Given the description of an element on the screen output the (x, y) to click on. 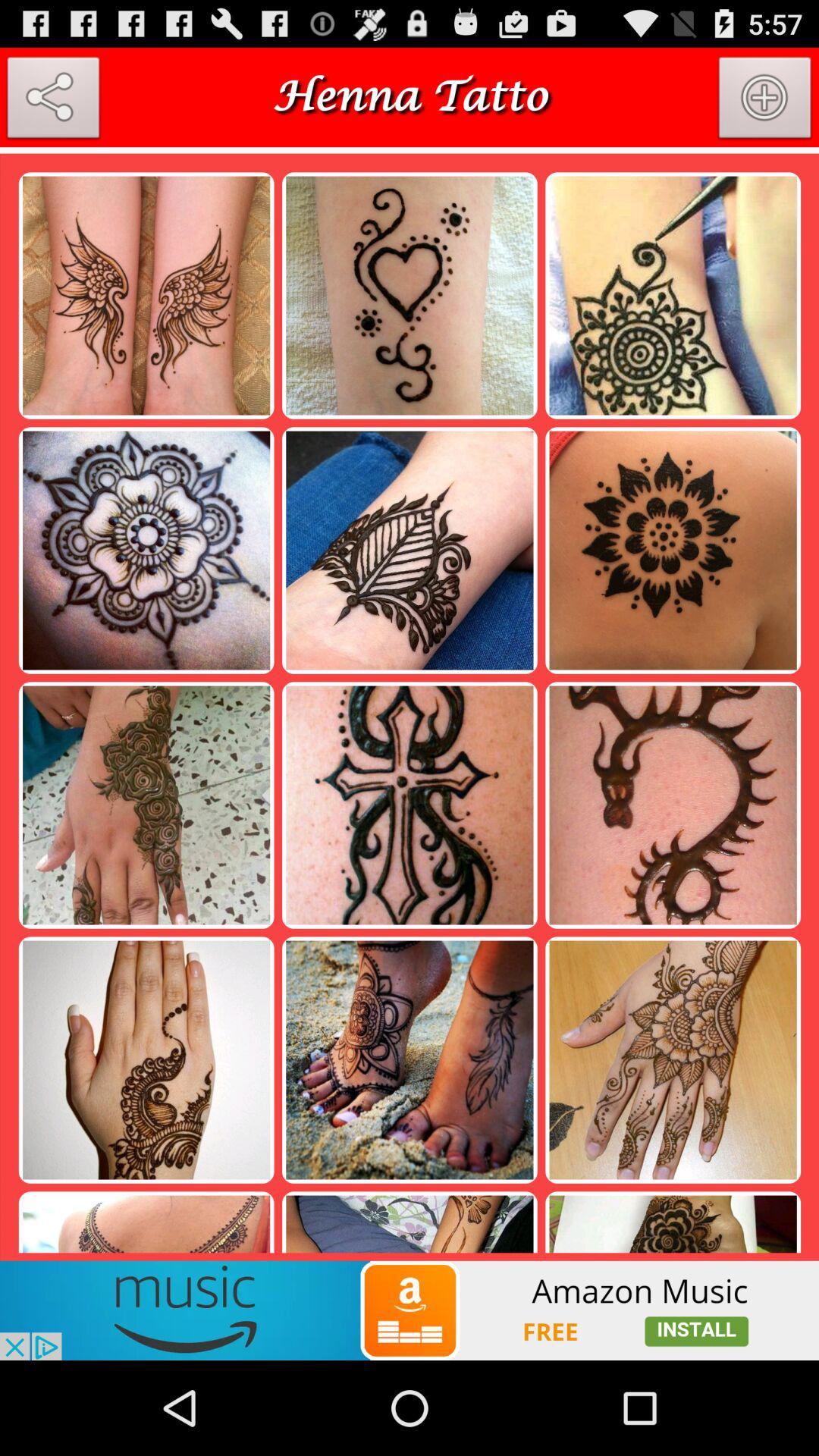
share (53, 100)
